Given the description of an element on the screen output the (x, y) to click on. 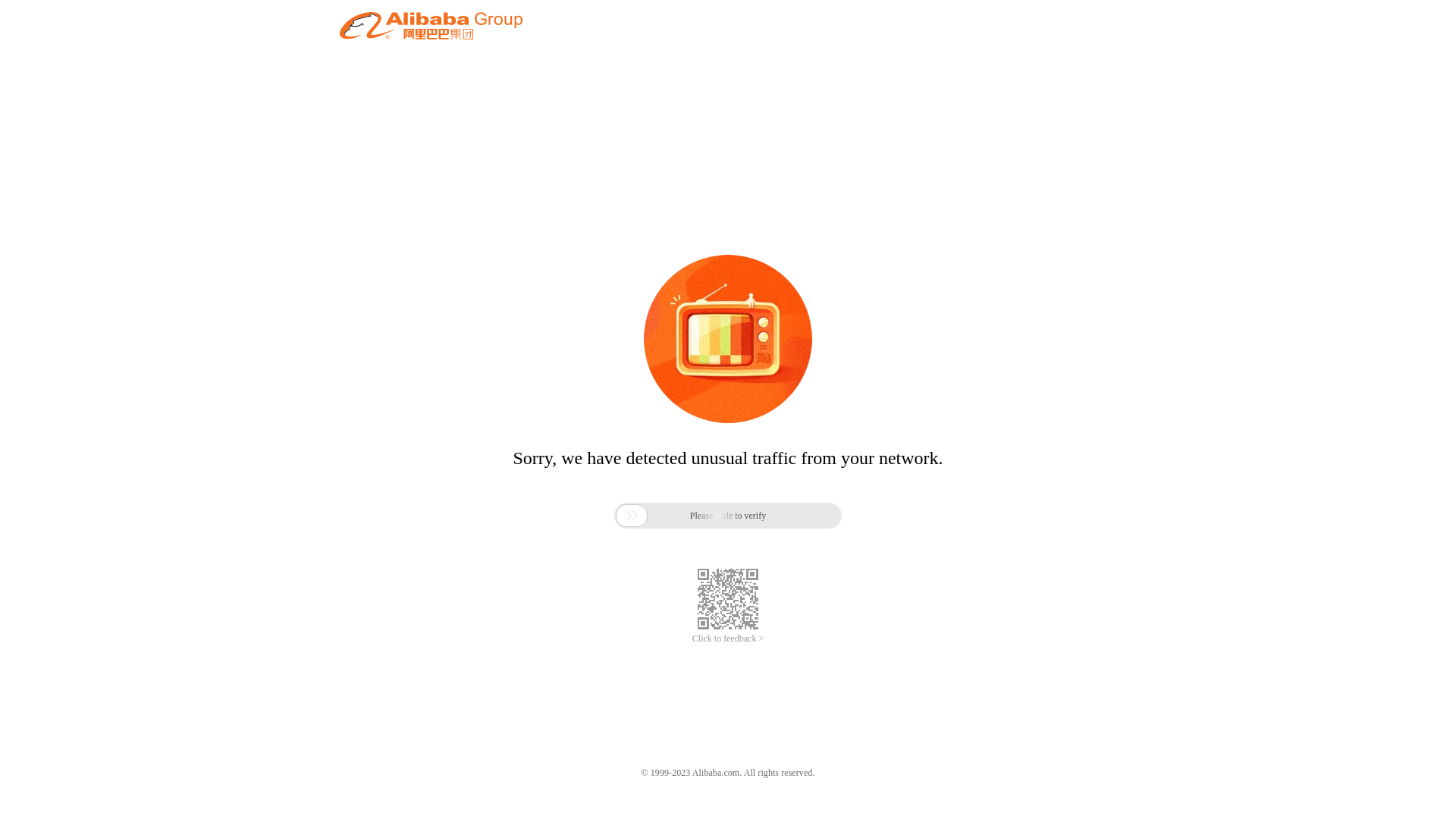
Click to feedback > Element type: text (727, 638)
